Given the description of an element on the screen output the (x, y) to click on. 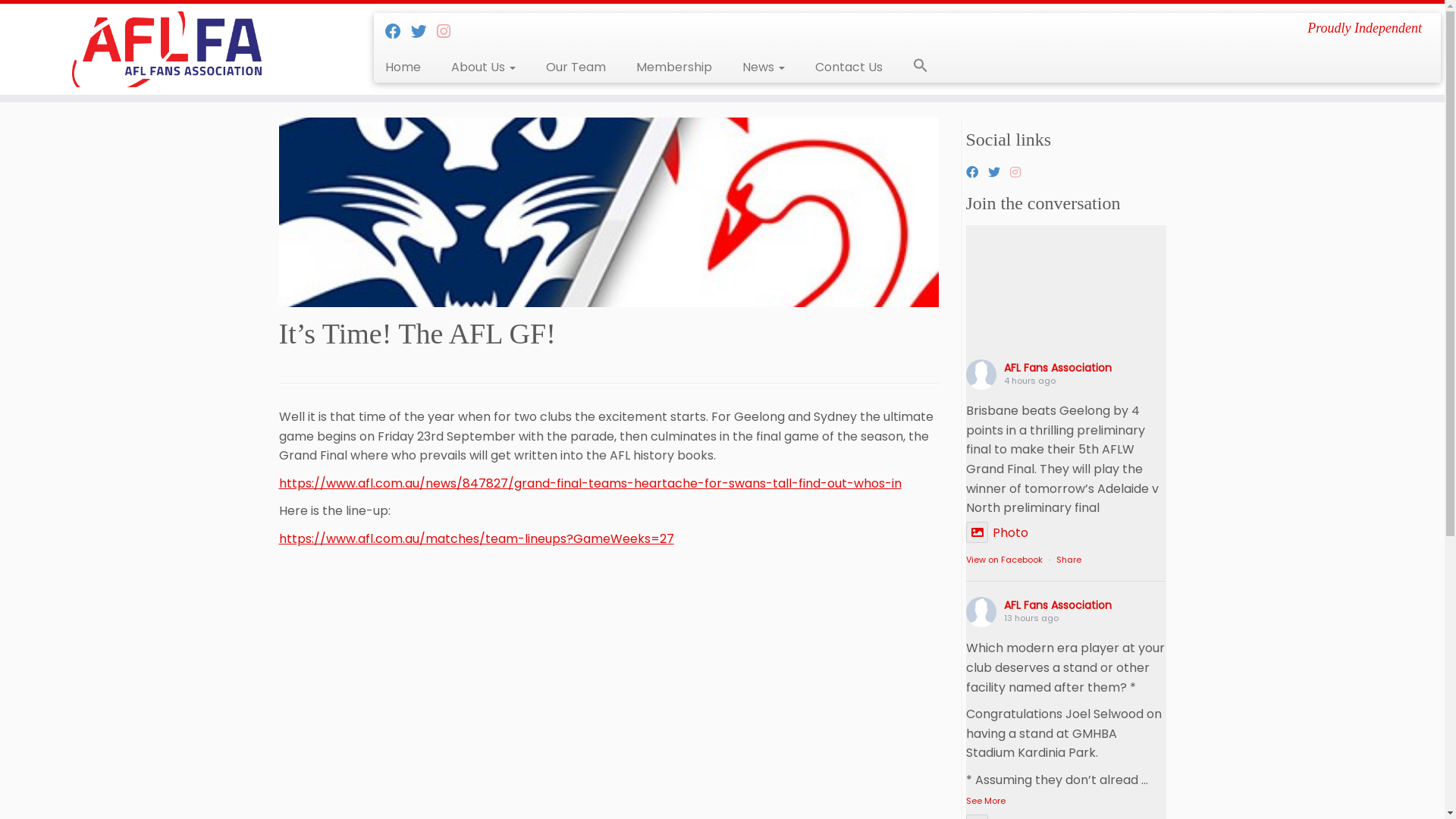
Home Element type: text (408, 67)
About Us Element type: text (483, 67)
Follow us on Facebook Element type: hover (977, 172)
Follow us on Twitter Element type: hover (423, 31)
View on Facebook Element type: text (1004, 559)
AFL Fans Association Element type: text (1057, 604)
Follow us on Facebook Element type: hover (398, 31)
Follow us on Instagram Element type: hover (448, 31)
Photo Element type: text (997, 532)
Share Element type: text (1067, 559)
https://www.afl.com.au/matches/team-lineups?GameWeeks=27 Element type: text (476, 538)
Follow us on Instagram Element type: hover (1020, 172)
News Element type: text (763, 67)
Contact Us Element type: text (848, 67)
AFL Fans Association Element type: text (1057, 367)
See More Element type: text (985, 800)
Follow us on Twitter Element type: hover (998, 172)
Membership Element type: text (674, 67)
Our Team Element type: text (575, 67)
